Given the description of an element on the screen output the (x, y) to click on. 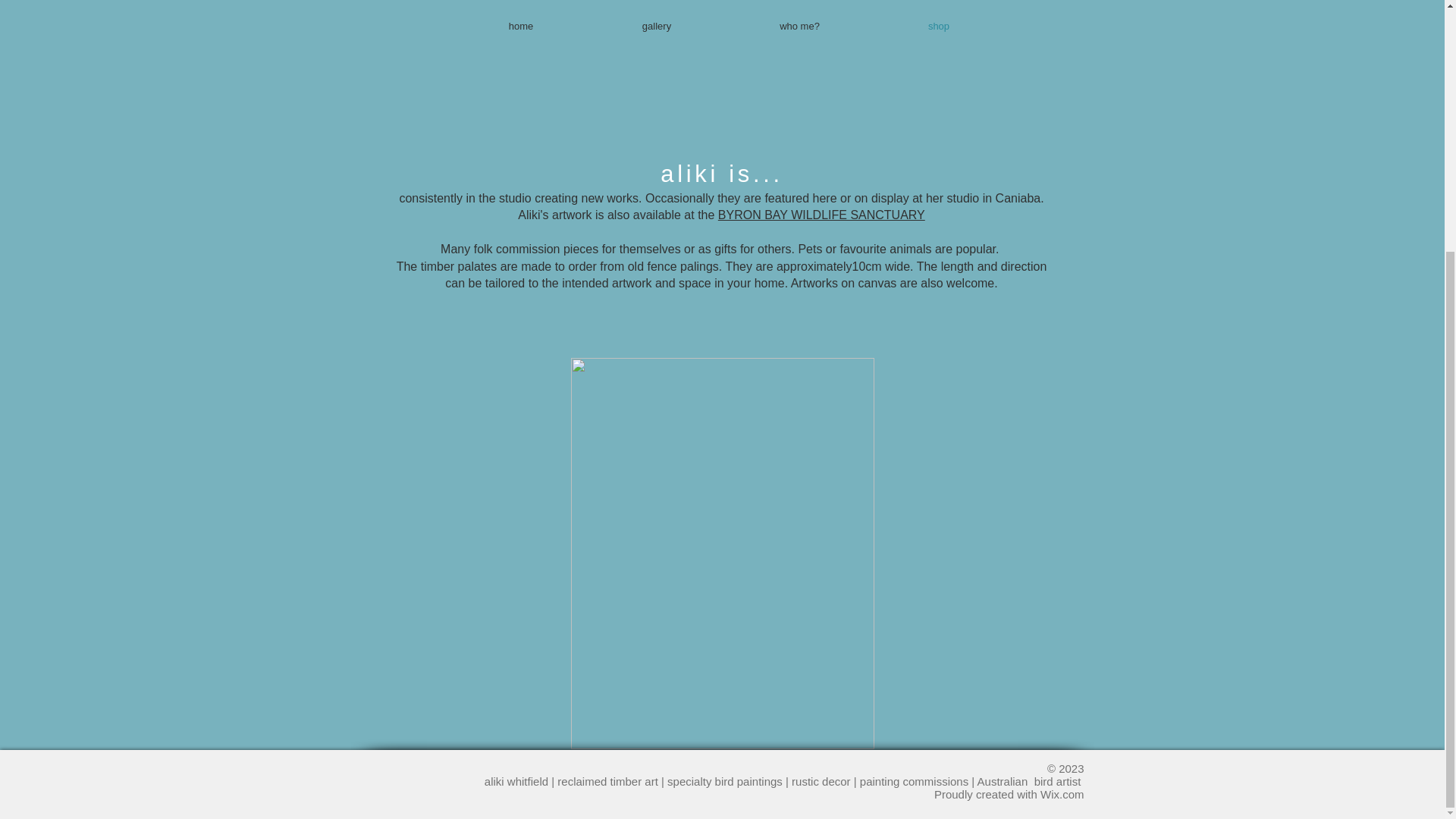
BYRON BAY WILDLIFE SANCTUARY (820, 214)
20230626-032A-00101.JPG (721, 553)
Wix.com (1062, 793)
